Given the description of an element on the screen output the (x, y) to click on. 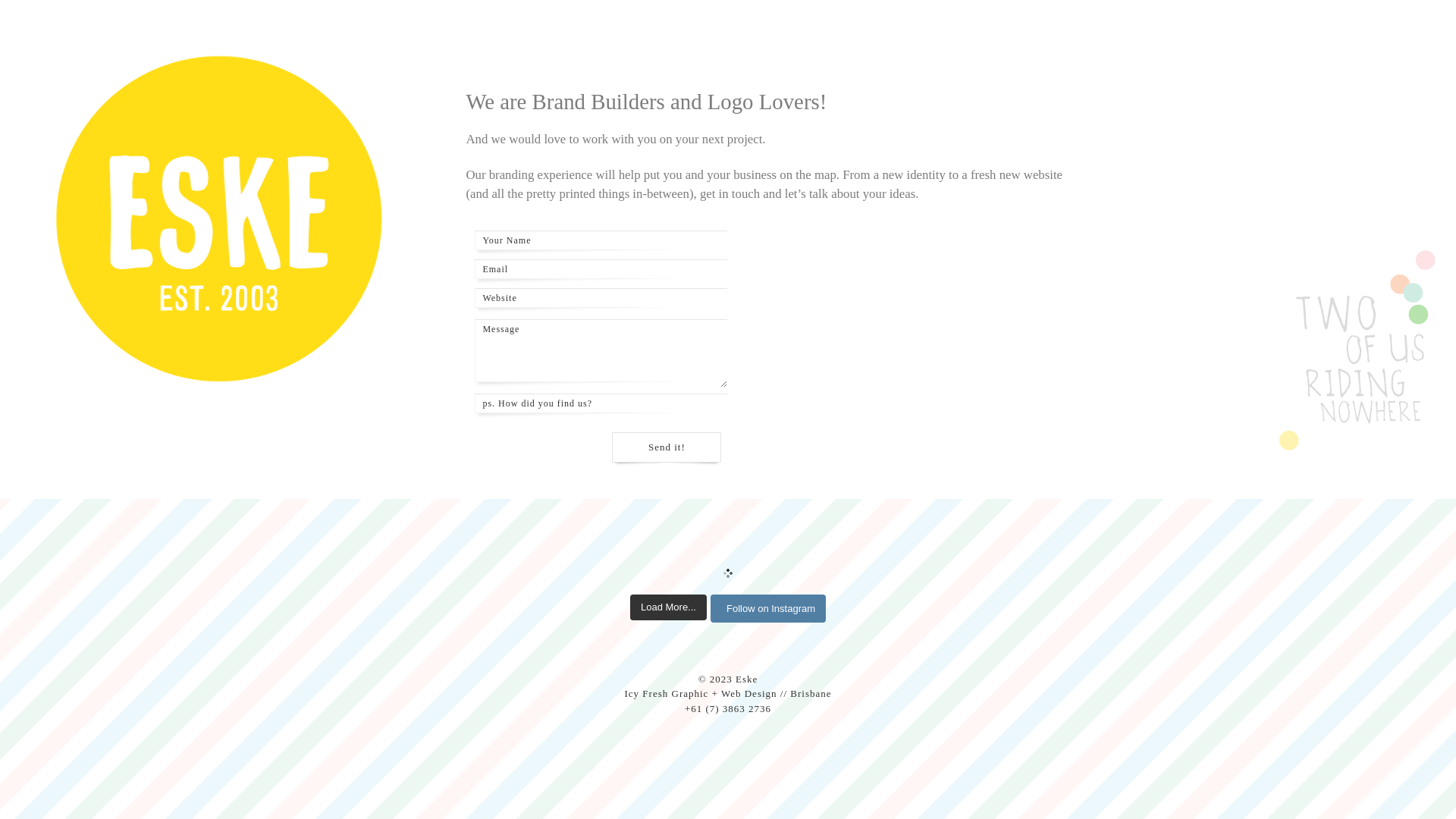
Send it! Element type: text (666, 449)
Follow on Instagram Element type: text (767, 608)
Load More... Element type: text (668, 607)
